Given the description of an element on the screen output the (x, y) to click on. 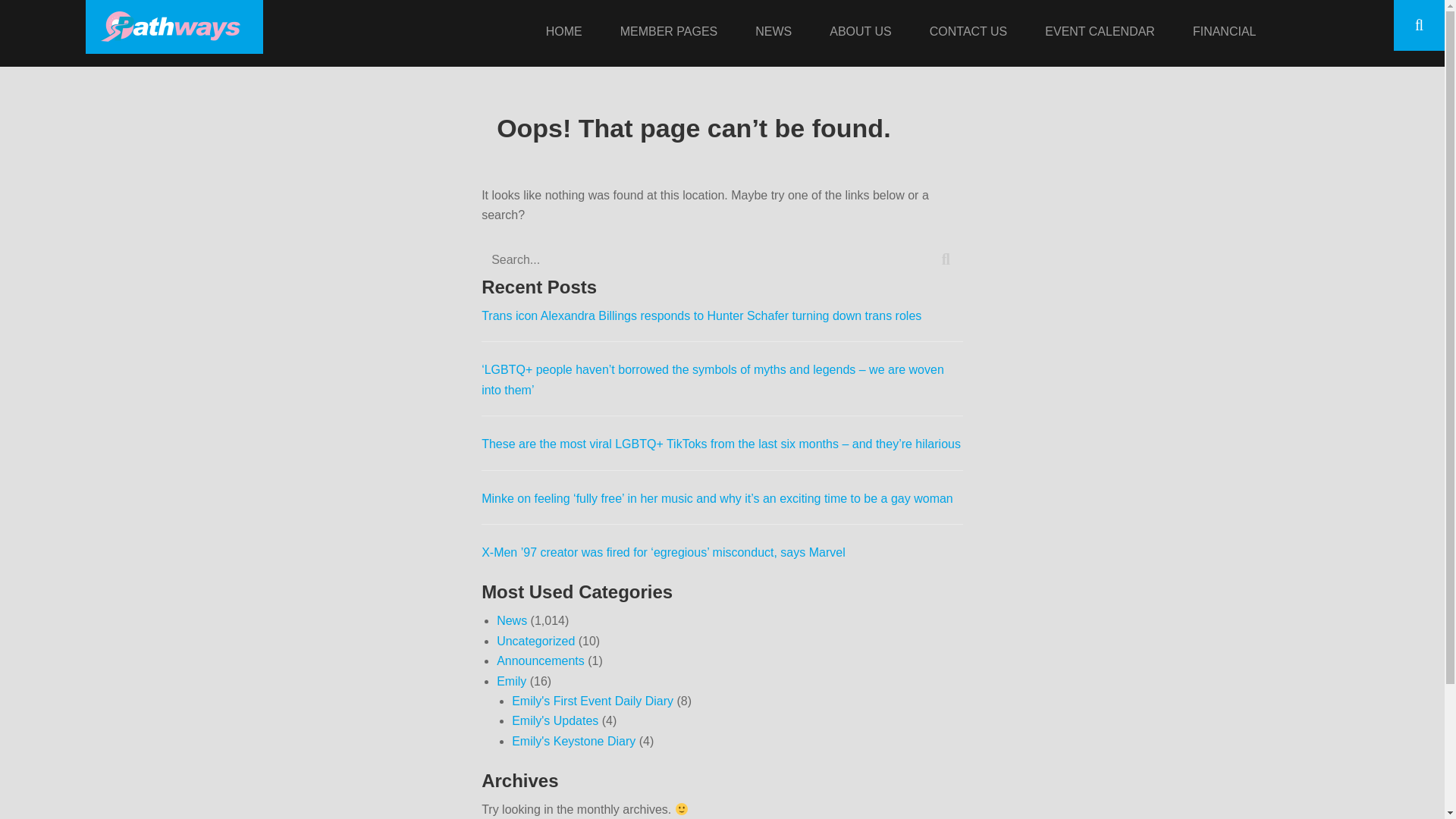
CONTACT US (968, 33)
EVENT CALENDAR (1099, 33)
Search for: (722, 259)
FINANCIAL (1224, 33)
ABOUT US (860, 33)
PATHWAYS (304, 23)
MEMBER PAGES (668, 33)
